Given the description of an element on the screen output the (x, y) to click on. 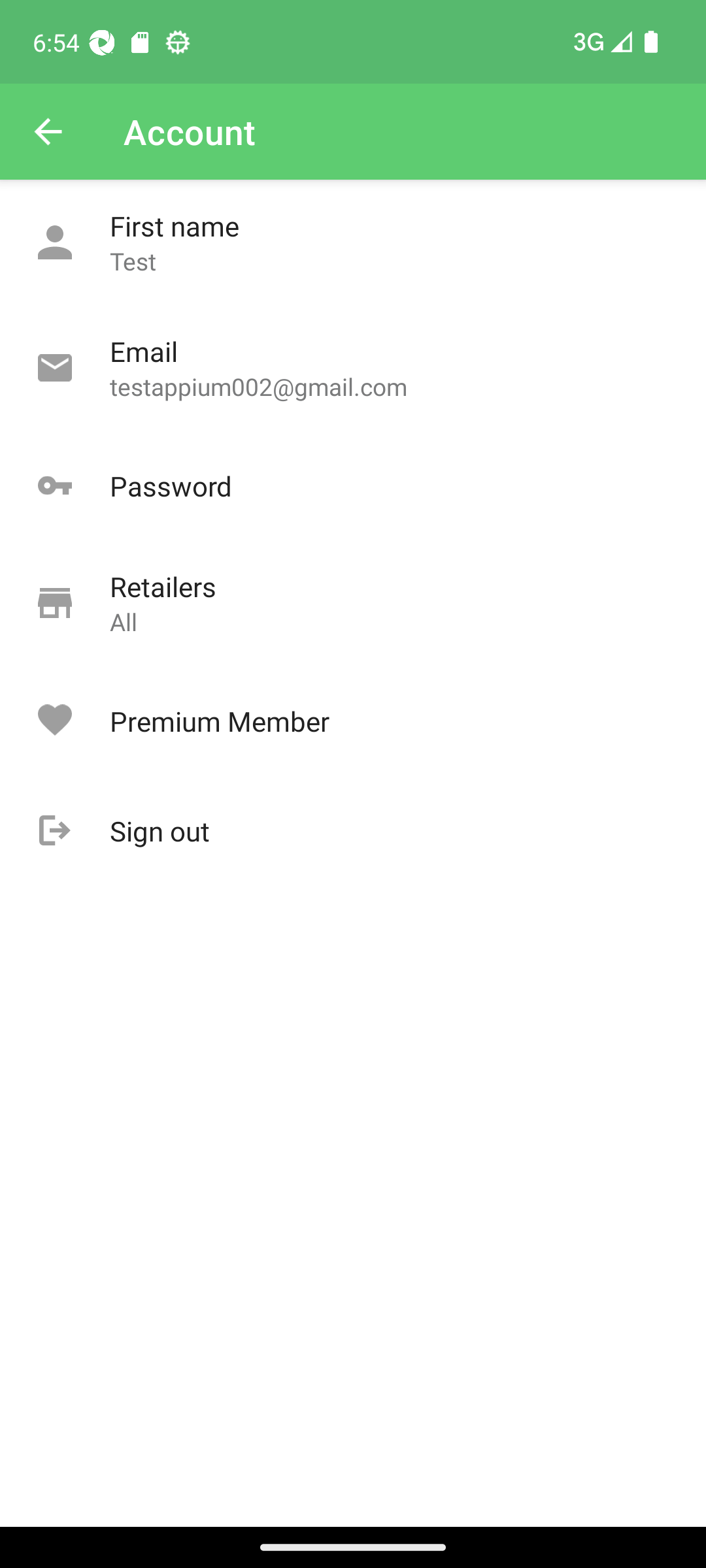
Navigate up (48, 131)
First name Test (353, 242)
Email testappium002@gmail.com (353, 368)
Password (353, 485)
Retailers All (353, 603)
Premium Member (353, 721)
Sign out (353, 830)
